Given the description of an element on the screen output the (x, y) to click on. 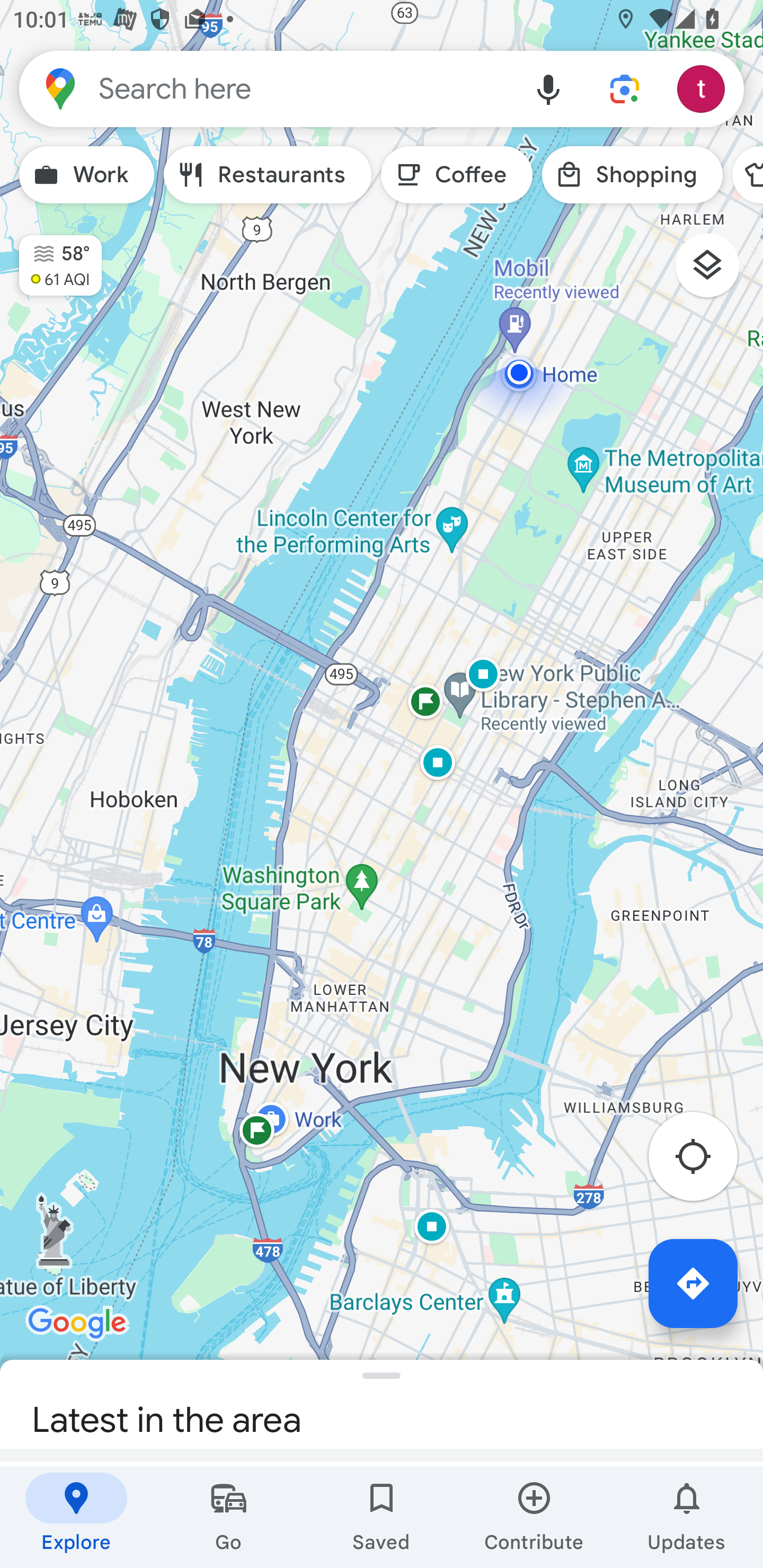
Search here (264, 88)
Voice search (548, 88)
Lens in Maps (624, 88)
Account and settings. (703, 88)
Work (86, 174)
Restaurants Search for Restaurants (267, 174)
Coffee Search for Coffee (456, 174)
Shopping Search for Shopping (631, 174)
Mist, 58°, Moderate, 61 AQI 58° 61 AQI (50, 257)
Layers (716, 271)
Re-center map to your location (702, 1161)
Directions (692, 1283)
Go (228, 1517)
Saved (381, 1517)
Contribute (533, 1517)
Updates (686, 1517)
